Given the description of an element on the screen output the (x, y) to click on. 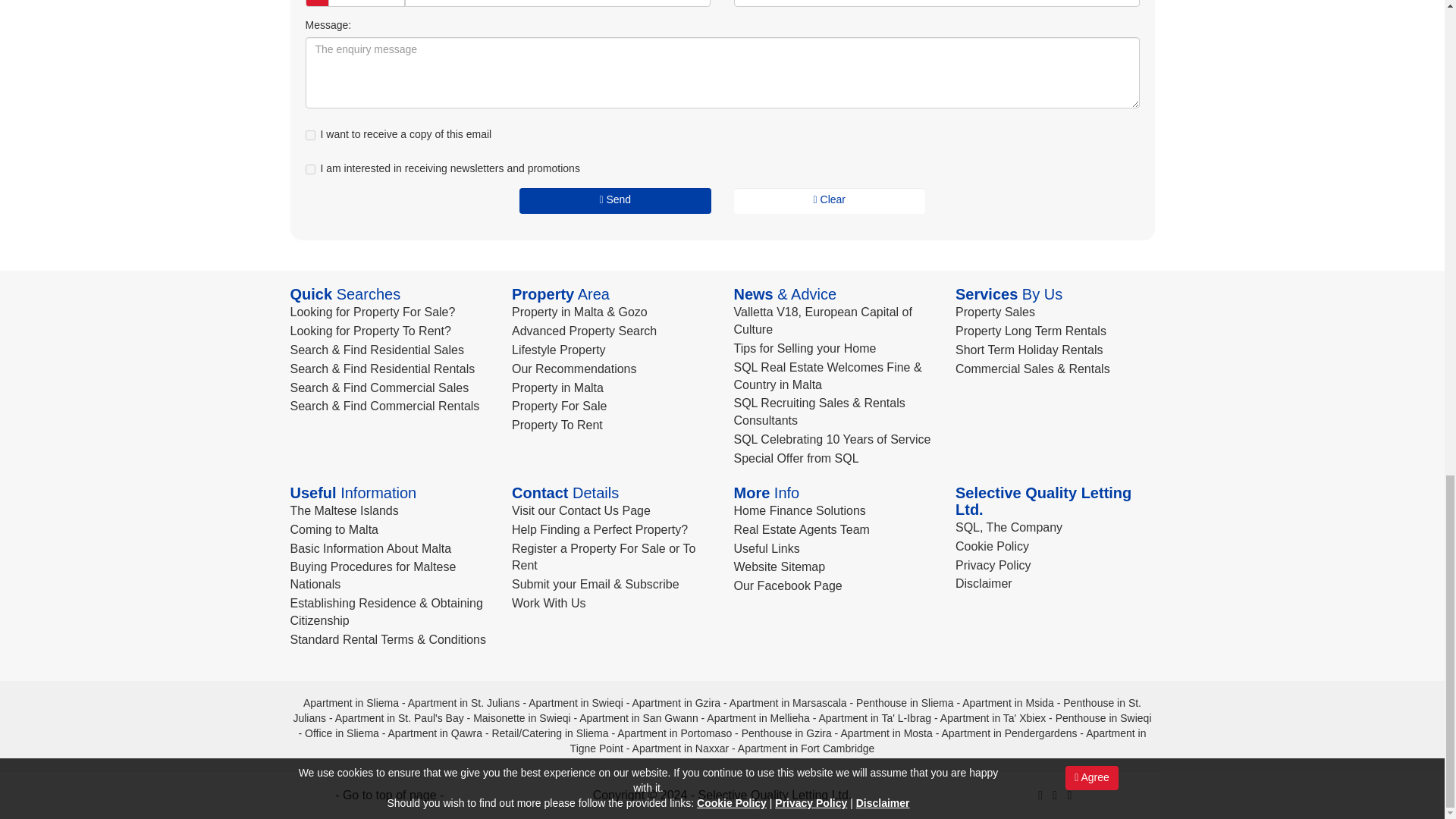
- Go to top of page - (389, 794)
- Go to top of page - (389, 794)
on (309, 135)
on (309, 169)
